Given the description of an element on the screen output the (x, y) to click on. 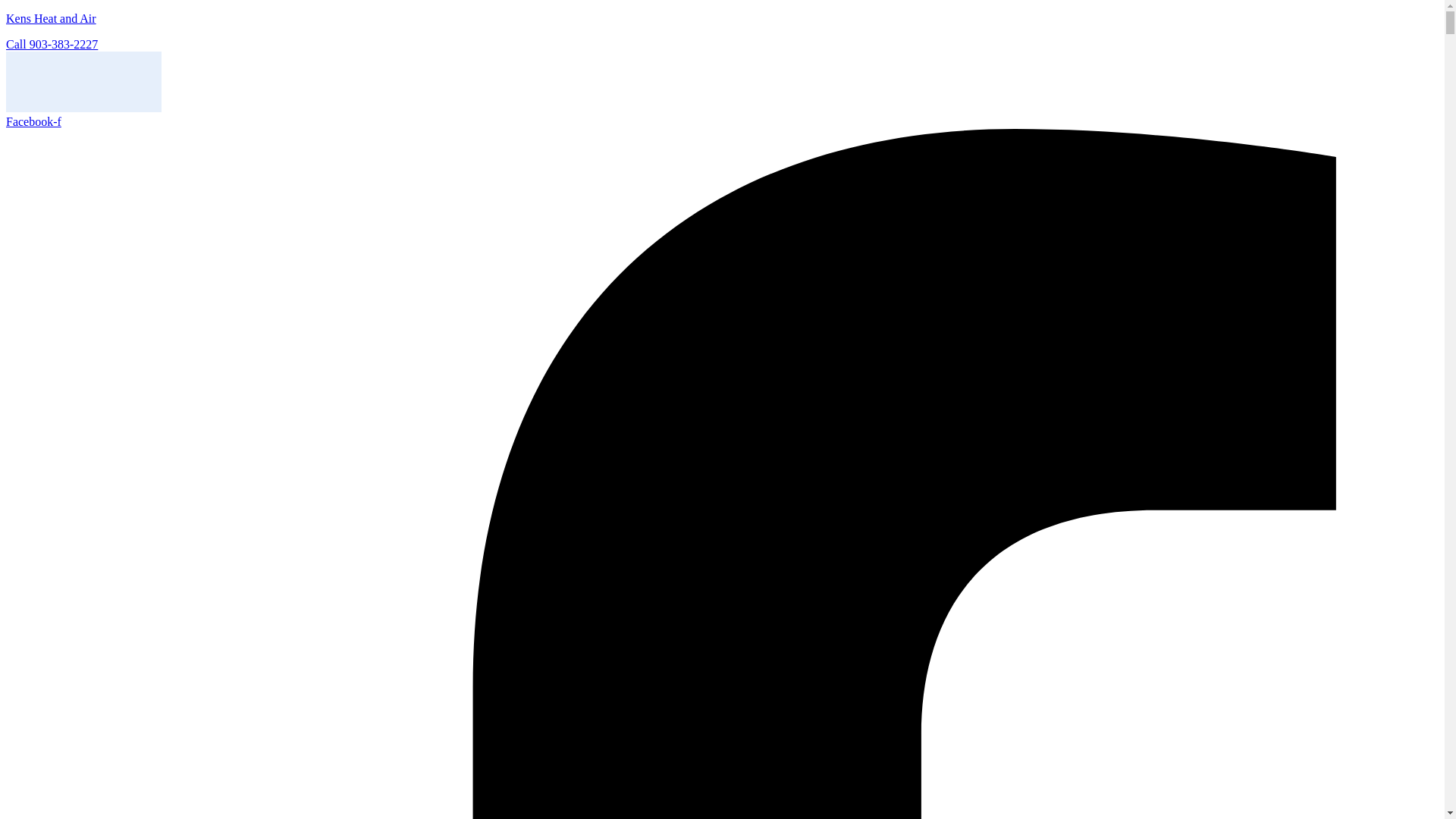
Kens Heat and Air (50, 18)
Call 903-383-2227 (51, 43)
Kens Heat and Air (50, 18)
